Given the description of an element on the screen output the (x, y) to click on. 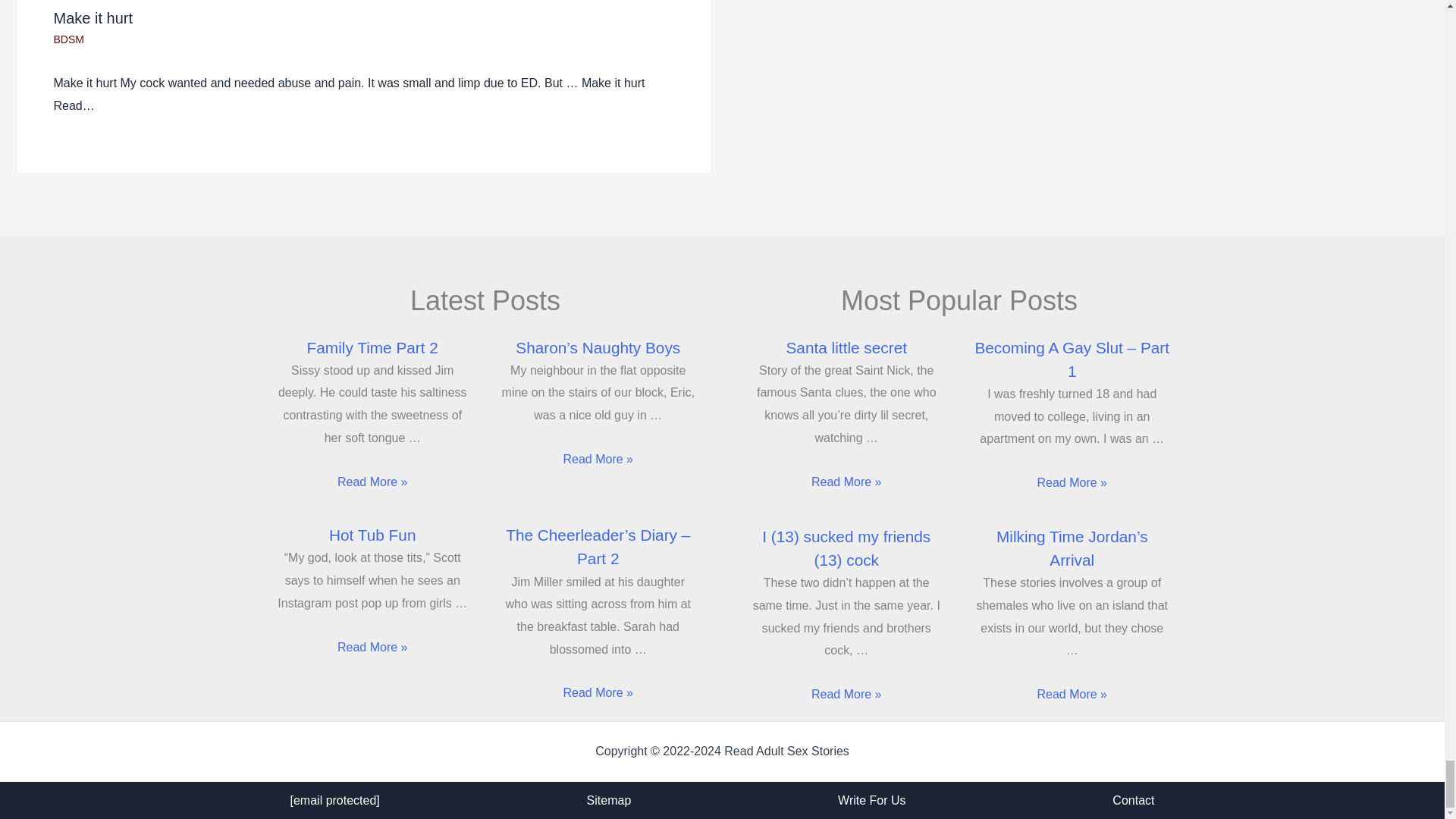
Make it hurt (92, 17)
BDSM (67, 39)
